Given the description of an element on the screen output the (x, y) to click on. 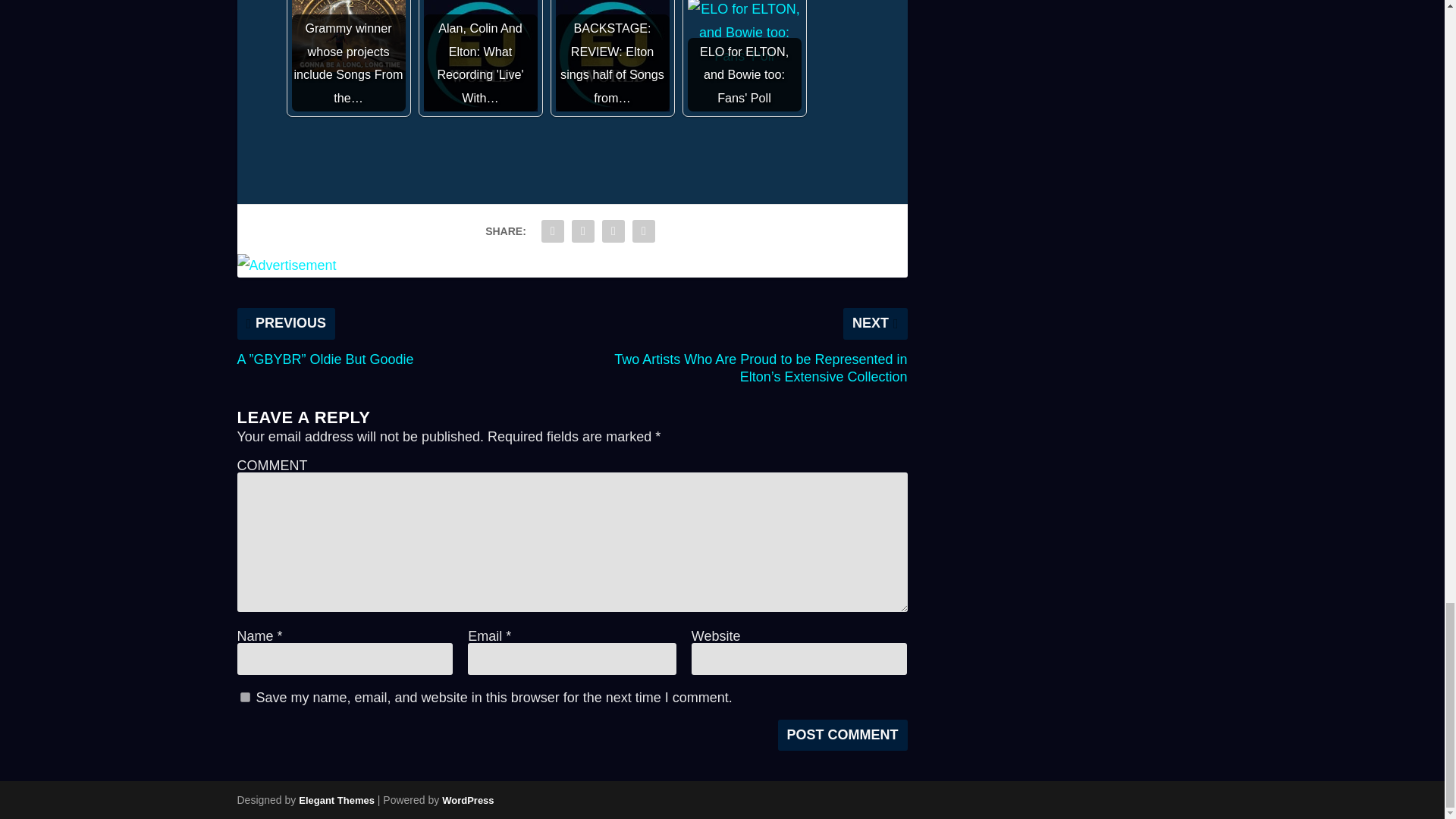
Post Comment (842, 735)
ELO for ELTON, and Bowie too: Fans' Poll (743, 55)
ELO for ELTON, and Bowie too: Fans' Poll (743, 33)
Post Comment (842, 735)
yes (244, 696)
